Given the description of an element on the screen output the (x, y) to click on. 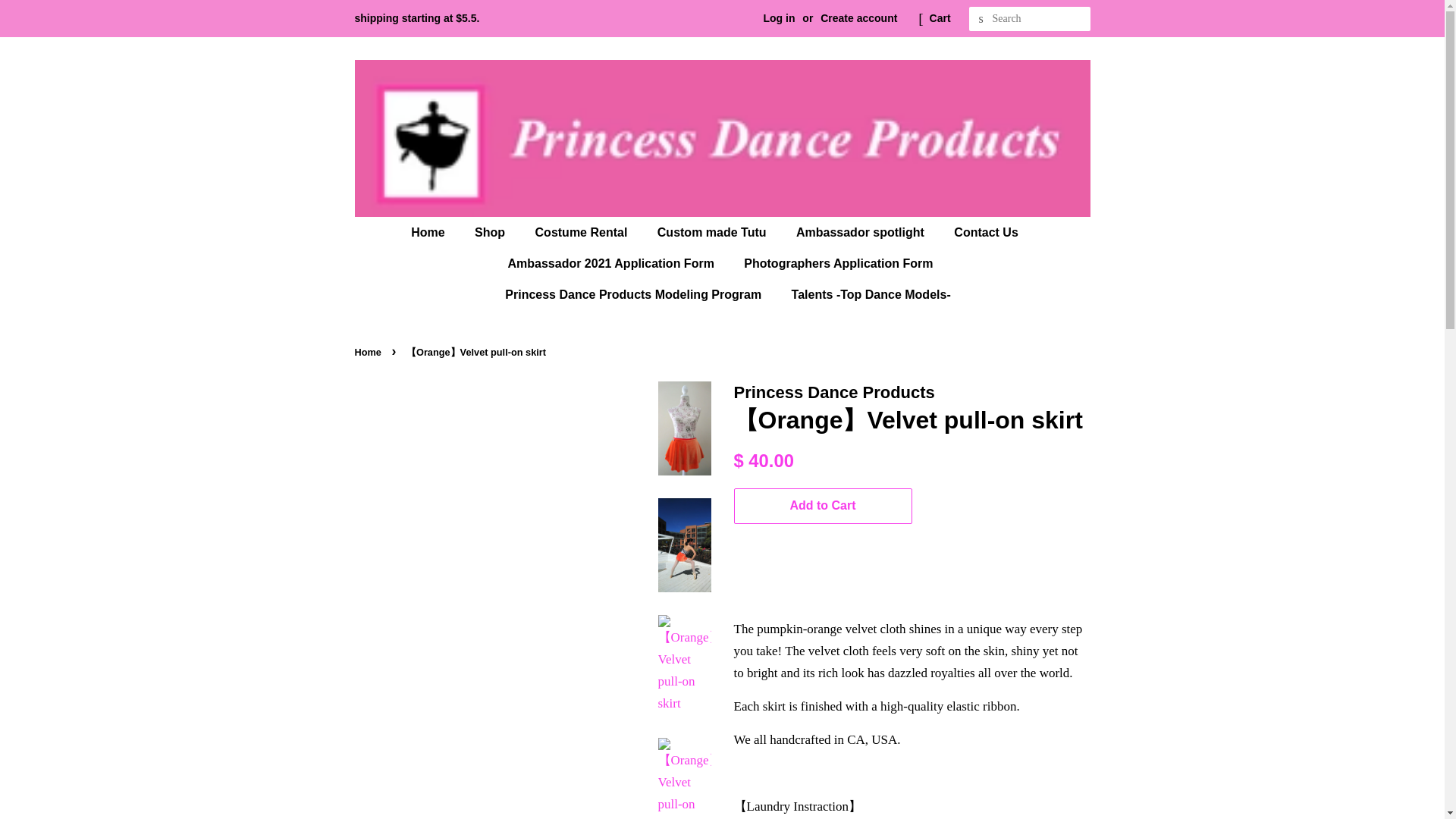
Photographers Application Form (839, 263)
Add to Cart (822, 506)
Home (435, 232)
Custom made Tutu (713, 232)
Shop (491, 232)
Contact Us (987, 232)
Home (370, 351)
Talents -Top Dance Models- (865, 294)
Create account (858, 18)
Log in (778, 18)
Ambassador spotlight (861, 232)
Ambassador 2021 Application Form (612, 263)
Back to the frontpage (370, 351)
Cart (940, 18)
Princess Dance Products Modeling Program (634, 294)
